Given the description of an element on the screen output the (x, y) to click on. 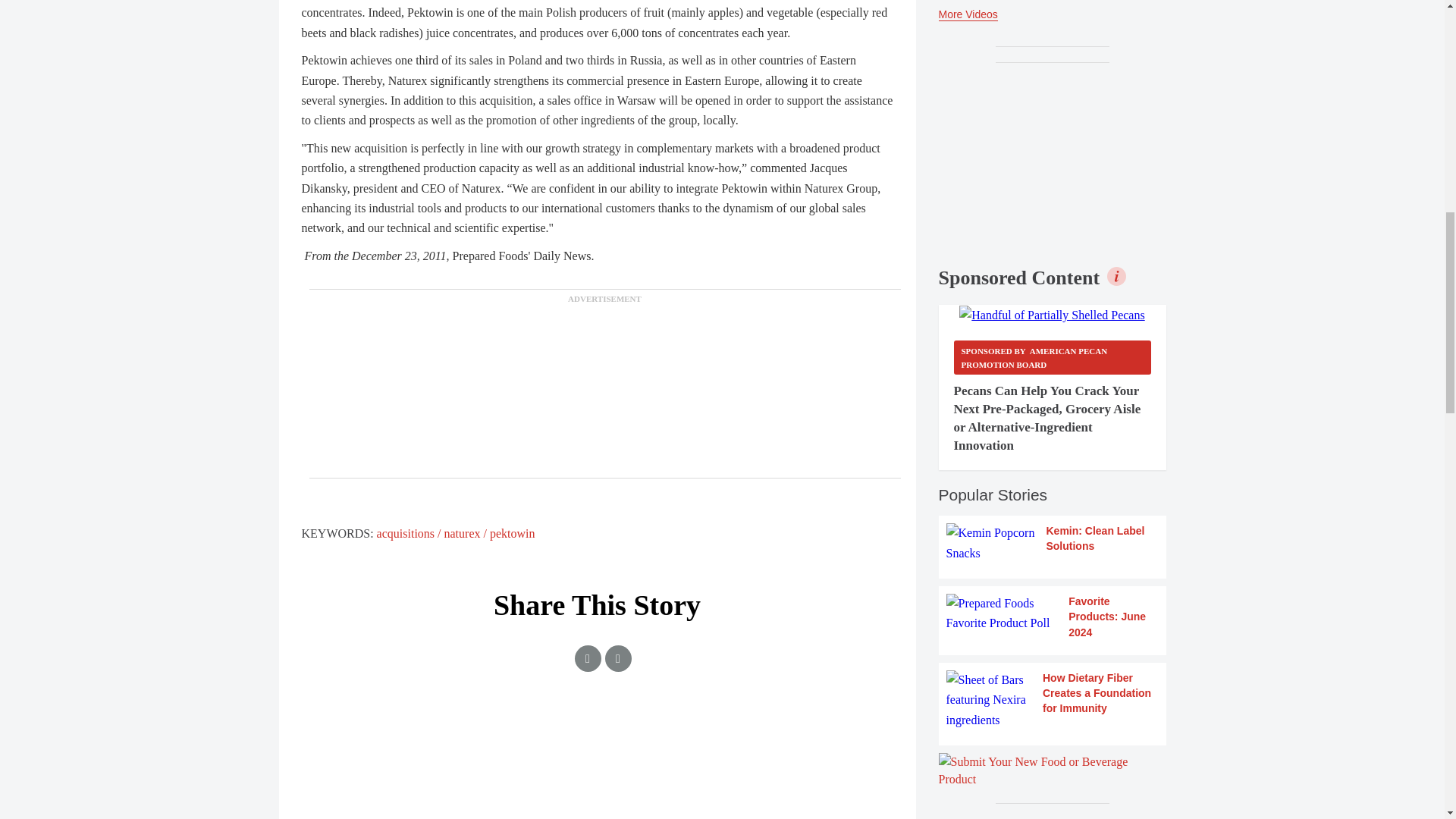
How Dietary Fiber Creates a Foundation for Immunity (1052, 700)
Handful of Partially Shelled Pecans (1051, 315)
Favorite Products: June 2024 (1052, 616)
Kemin: Clean Label Solutions (1052, 543)
Sponsored by American Pecan Promotion Board (1052, 357)
